Given the description of an element on the screen output the (x, y) to click on. 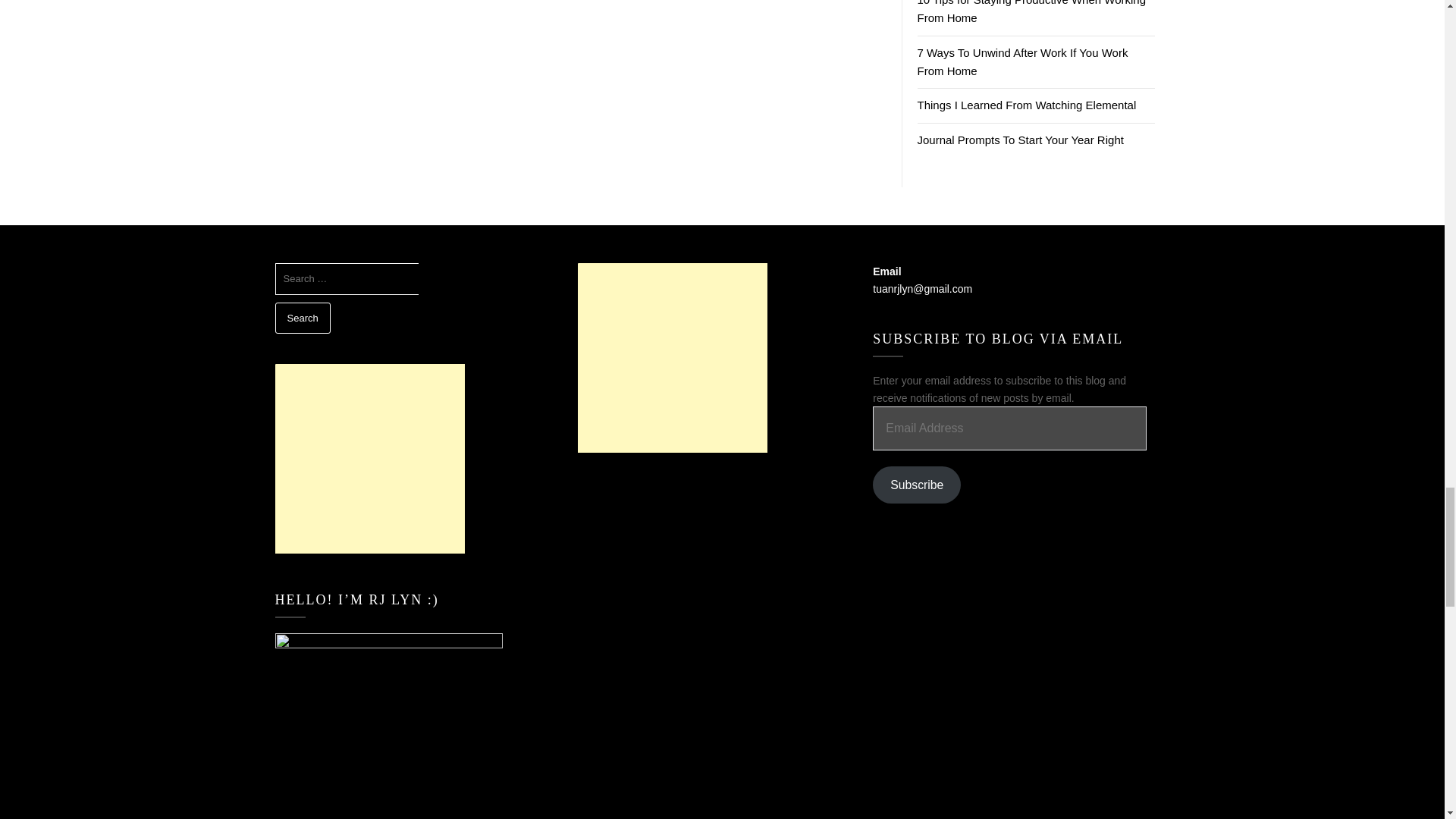
Search (302, 318)
10 Tips for Staying Productive When Working From Home (1032, 12)
7 Ways To Unwind After Work If You Work From Home (1022, 60)
Search (302, 318)
